Given the description of an element on the screen output the (x, y) to click on. 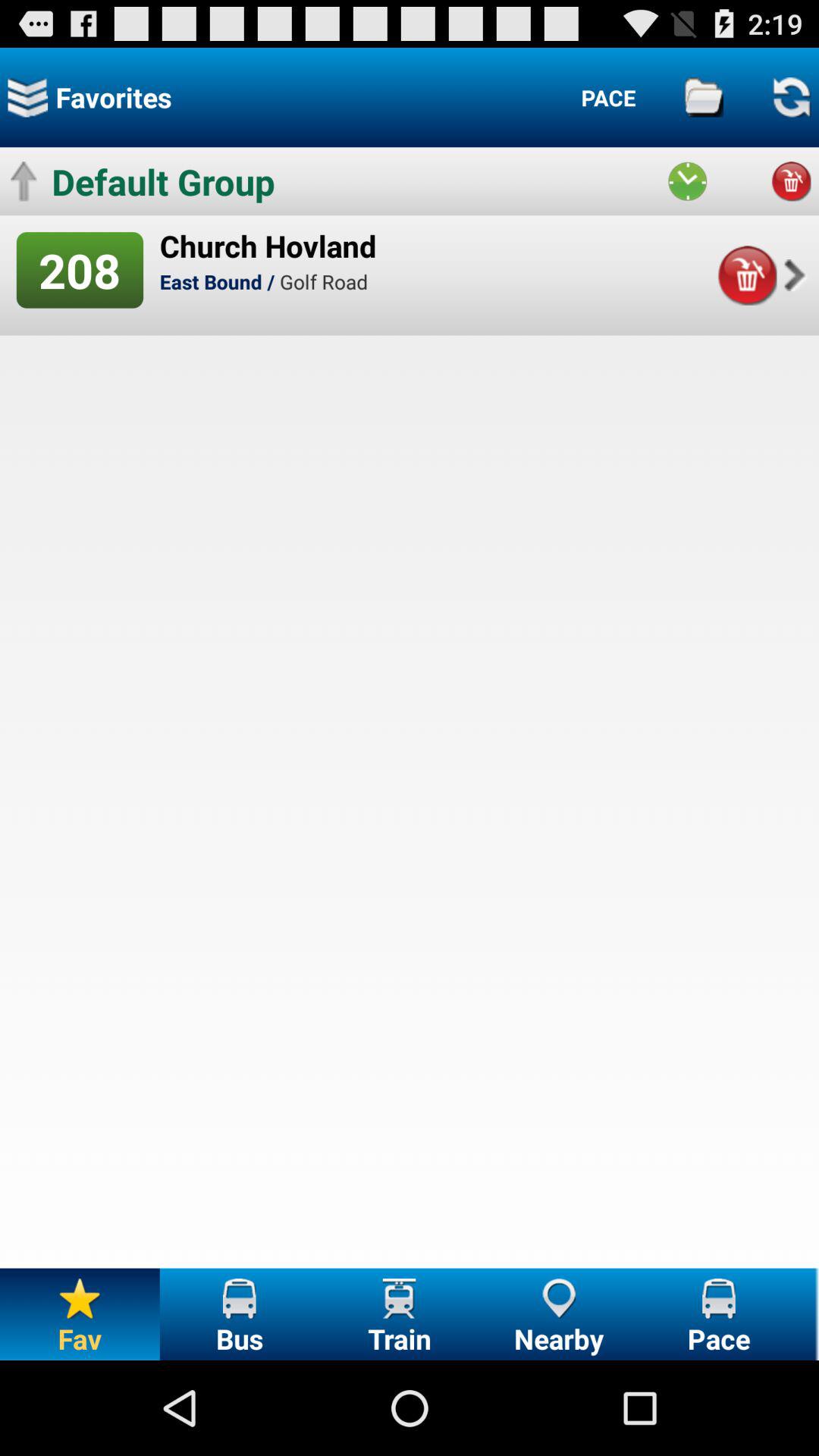
refresh (791, 97)
